Given the description of an element on the screen output the (x, y) to click on. 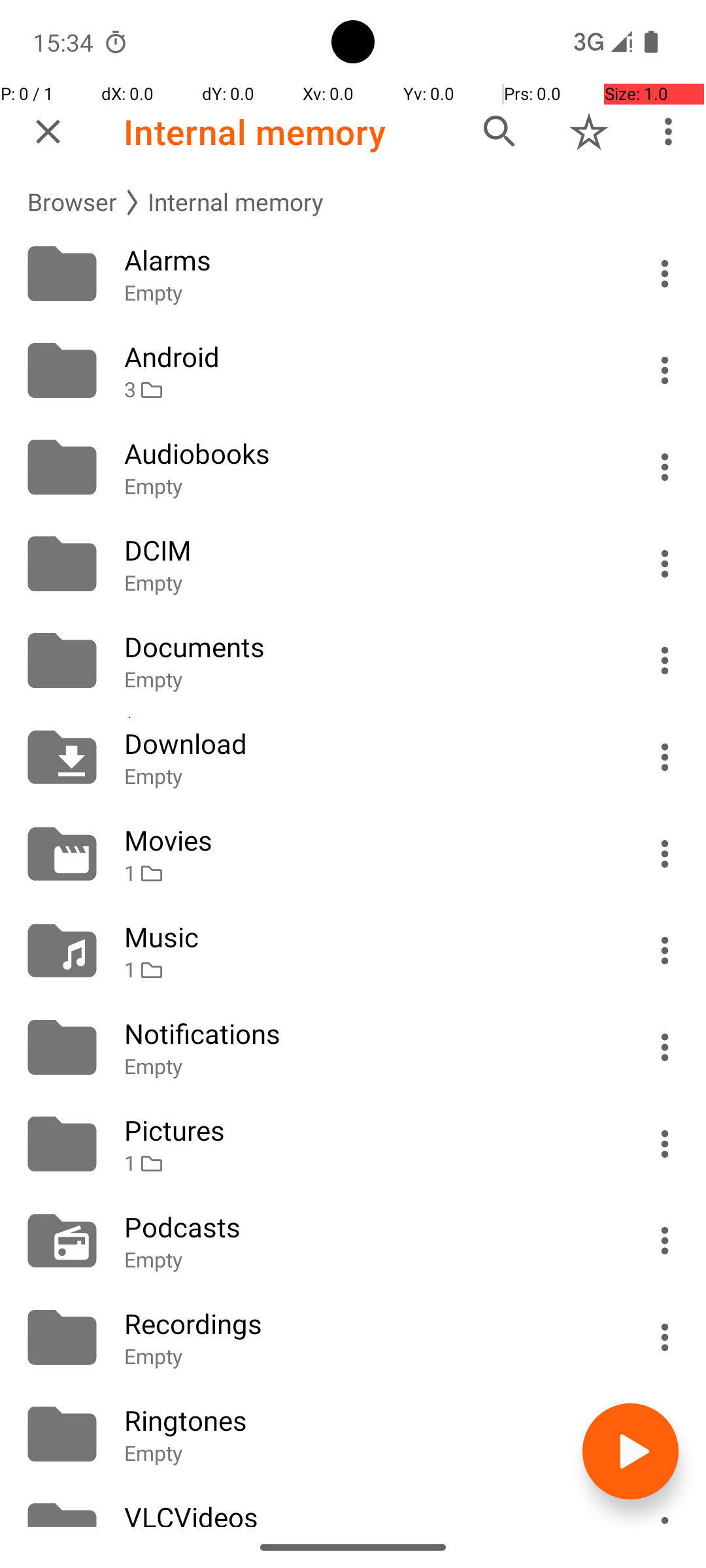
Folder: Alarms, Empty Element type: android.view.ViewGroup (353, 273)
Folder: Android, 3 subfolders Element type: android.view.ViewGroup (353, 370)
Folder: Audiobooks, Empty Element type: android.view.ViewGroup (353, 466)
Folder: DCIM, Empty Element type: android.view.ViewGroup (353, 563)
Folder: Documents, Empty Element type: android.view.ViewGroup (353, 660)
Folder: Download, Empty Element type: android.view.ViewGroup (353, 756)
Folder: Movies, 1 subfolder Element type: android.view.ViewGroup (353, 853)
Folder: Music, 1 subfolder Element type: android.view.ViewGroup (353, 950)
Folder: Notifications, Empty Element type: android.view.ViewGroup (353, 1046)
Folder: Pictures, 1 subfolder Element type: android.view.ViewGroup (353, 1143)
Folder: Podcasts, Empty Element type: android.view.ViewGroup (353, 1240)
Folder: Recordings, Empty Element type: android.view.ViewGroup (353, 1337)
Folder: Ringtones, Empty Element type: android.view.ViewGroup (353, 1433)
Folder: VLCVideos, 6 media files Element type: android.view.ViewGroup (353, 1504)
Android Element type: android.widget.TextView (366, 356)
3 §*§ Element type: android.widget.TextView (366, 389)
Audiobooks Element type: android.widget.TextView (366, 452)
Recordings Element type: android.widget.TextView (366, 1322)
Ringtones Element type: android.widget.TextView (366, 1419)
